Given the description of an element on the screen output the (x, y) to click on. 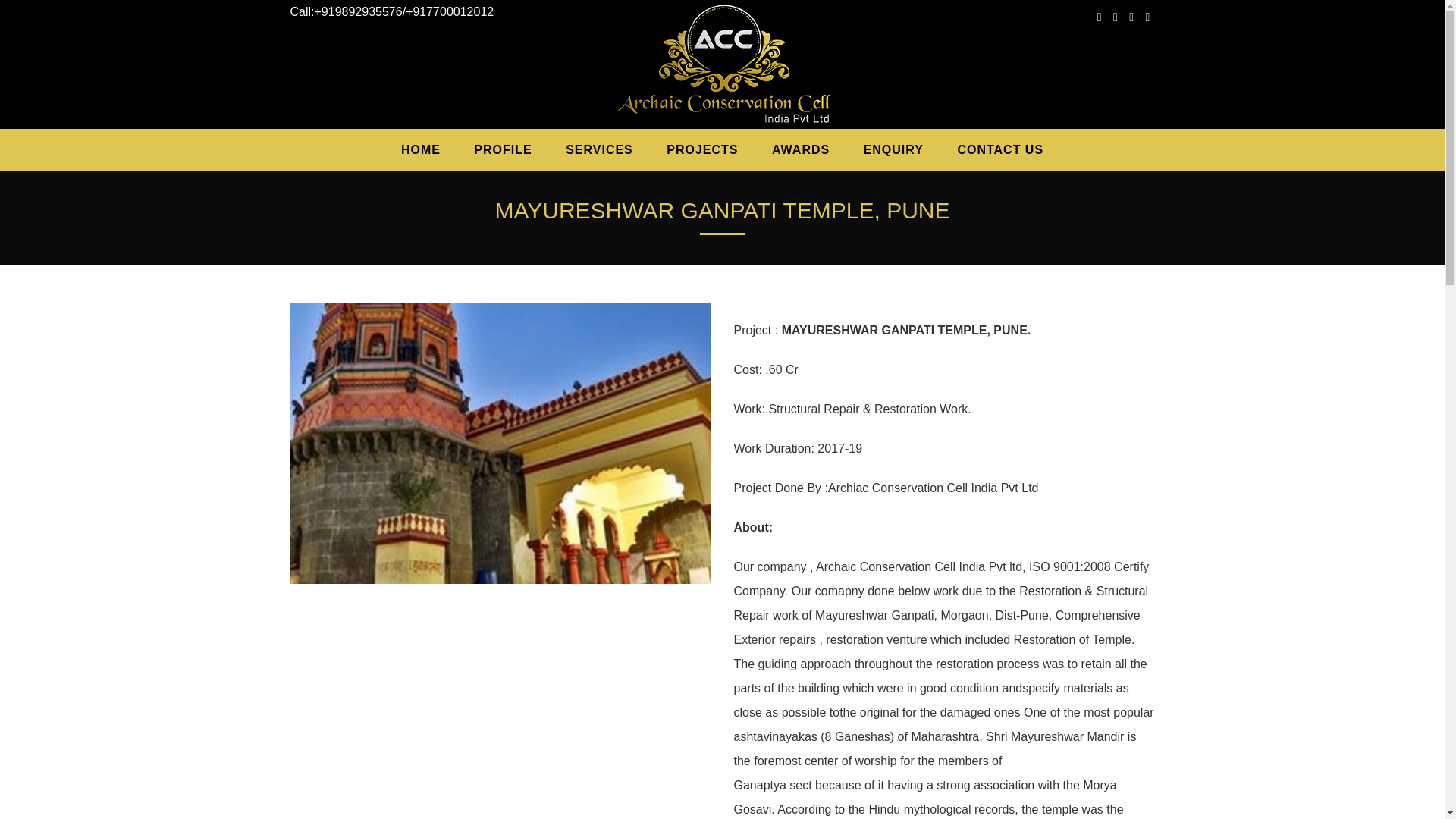
SERVICES (598, 149)
AWARDS (800, 149)
HOME (420, 149)
ENQUIRY (893, 149)
CONTACT US (1000, 149)
PROFILE (502, 149)
PROJECTS (701, 149)
